Given the description of an element on the screen output the (x, y) to click on. 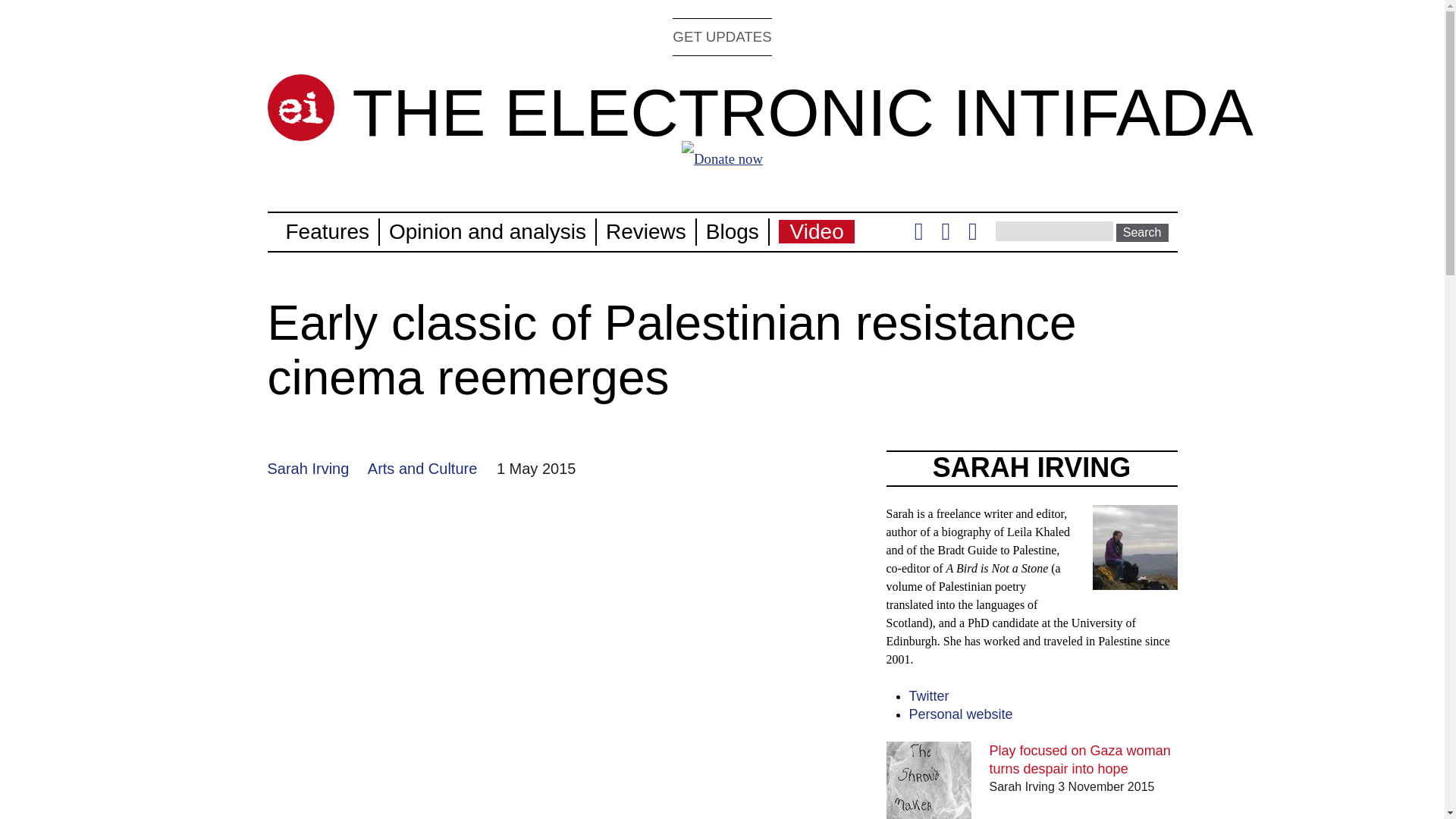
Sarah Irving (307, 468)
Enter the terms you wish to search for. (1054, 230)
THE ELECTRONIC INTIFADA (802, 112)
Twitter (918, 235)
Sarah Irving's picture (1134, 547)
Sarah Irving's picture (1134, 580)
Home (802, 112)
Search (1142, 232)
Arts and Culture (422, 468)
Home (299, 107)
GET UPDATES (721, 37)
YouTube (972, 235)
Facebook (945, 235)
